Given the description of an element on the screen output the (x, y) to click on. 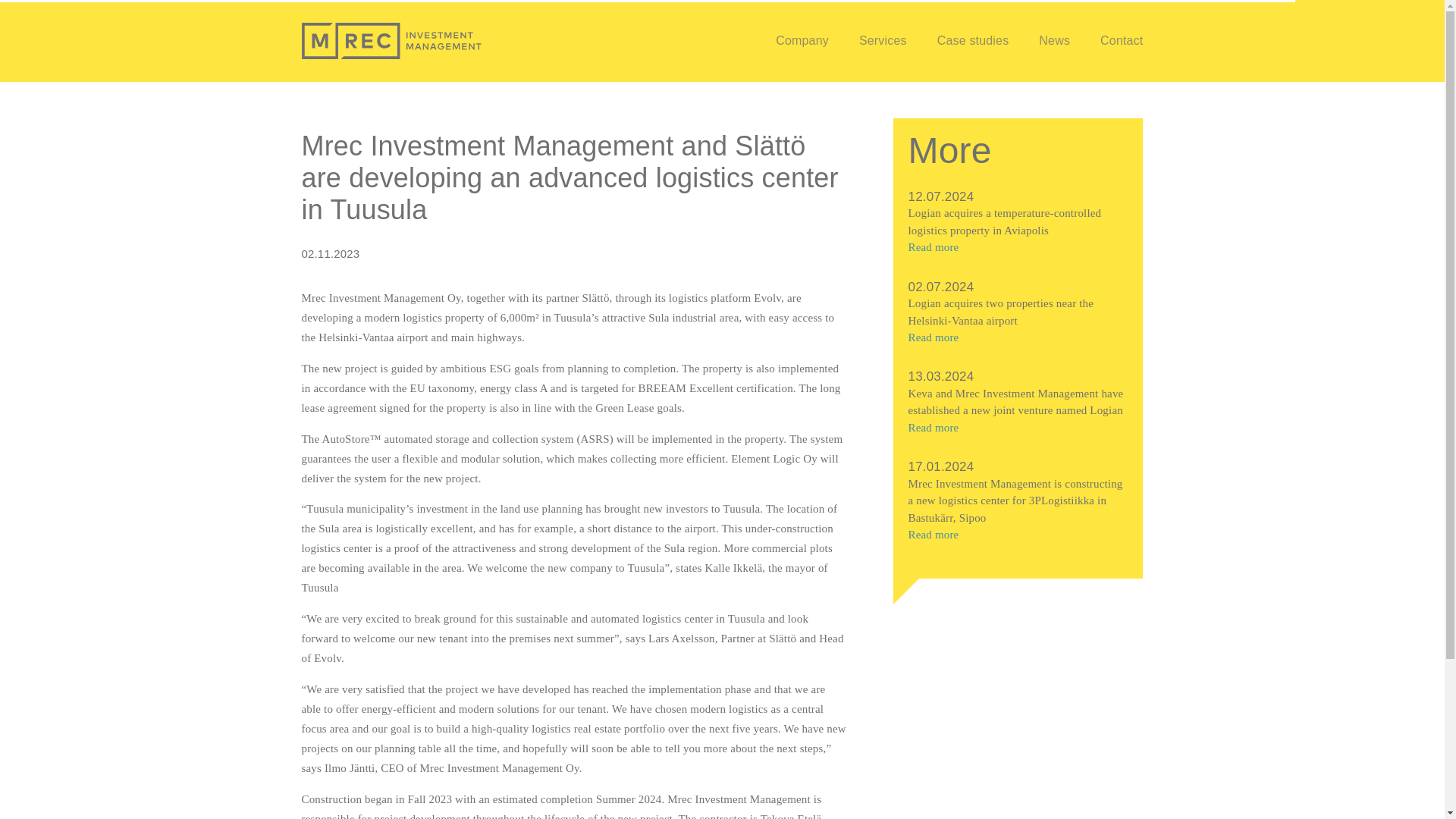
Services (883, 40)
Company (802, 40)
News (1054, 40)
Contact (1121, 40)
Case studies (973, 40)
Case studies (973, 40)
Company (802, 40)
More (1018, 150)
Contact (1121, 40)
News (1054, 40)
Services (883, 40)
